Given the description of an element on the screen output the (x, y) to click on. 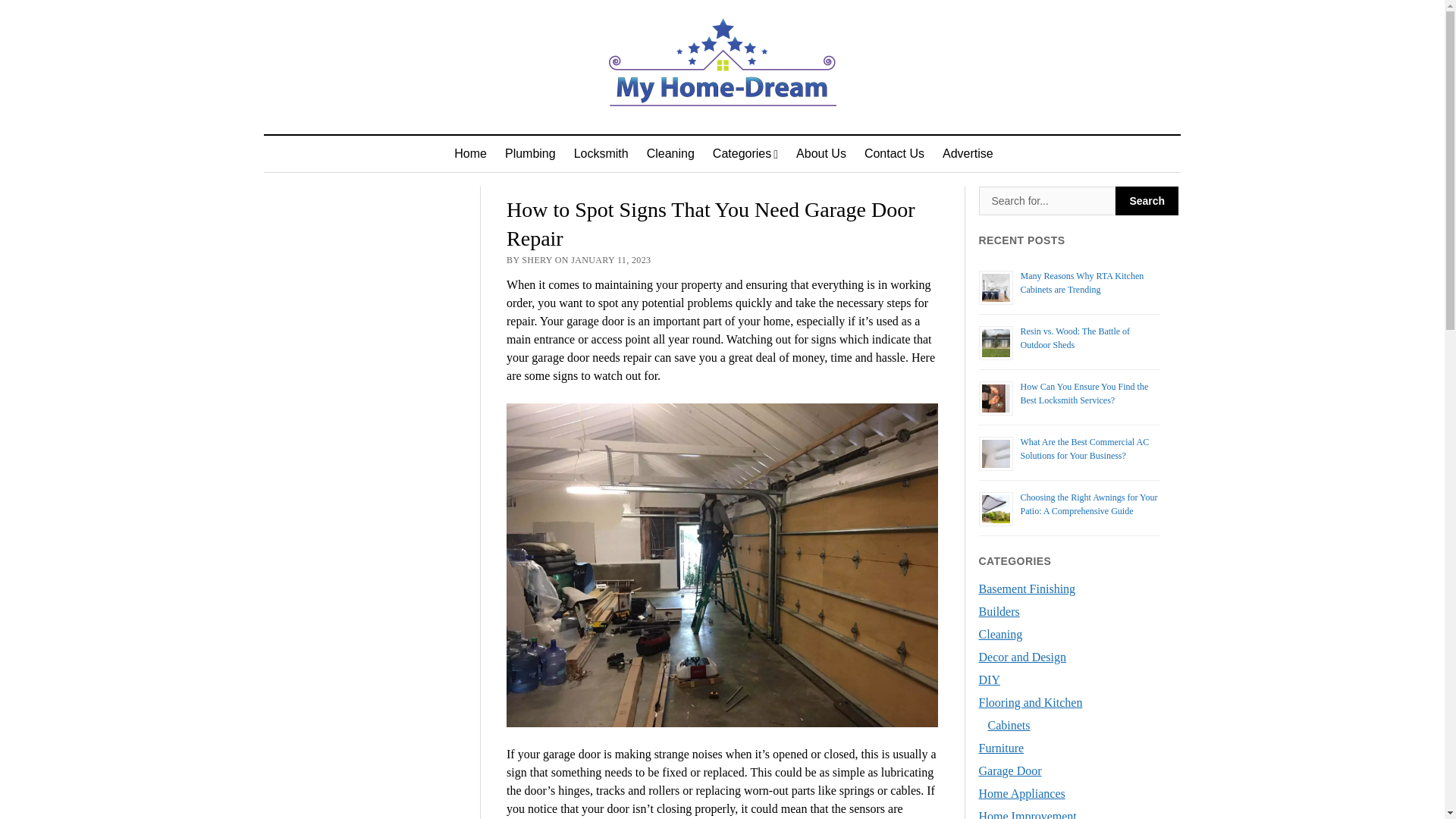
Categories (745, 153)
Contact Us (894, 153)
Advertise (968, 153)
Search (1146, 200)
Search (1146, 200)
Cleaning (670, 153)
Plumbing (530, 153)
Search (1047, 200)
About Us (821, 153)
Home (470, 153)
Locksmith (600, 153)
